Given the description of an element on the screen output the (x, y) to click on. 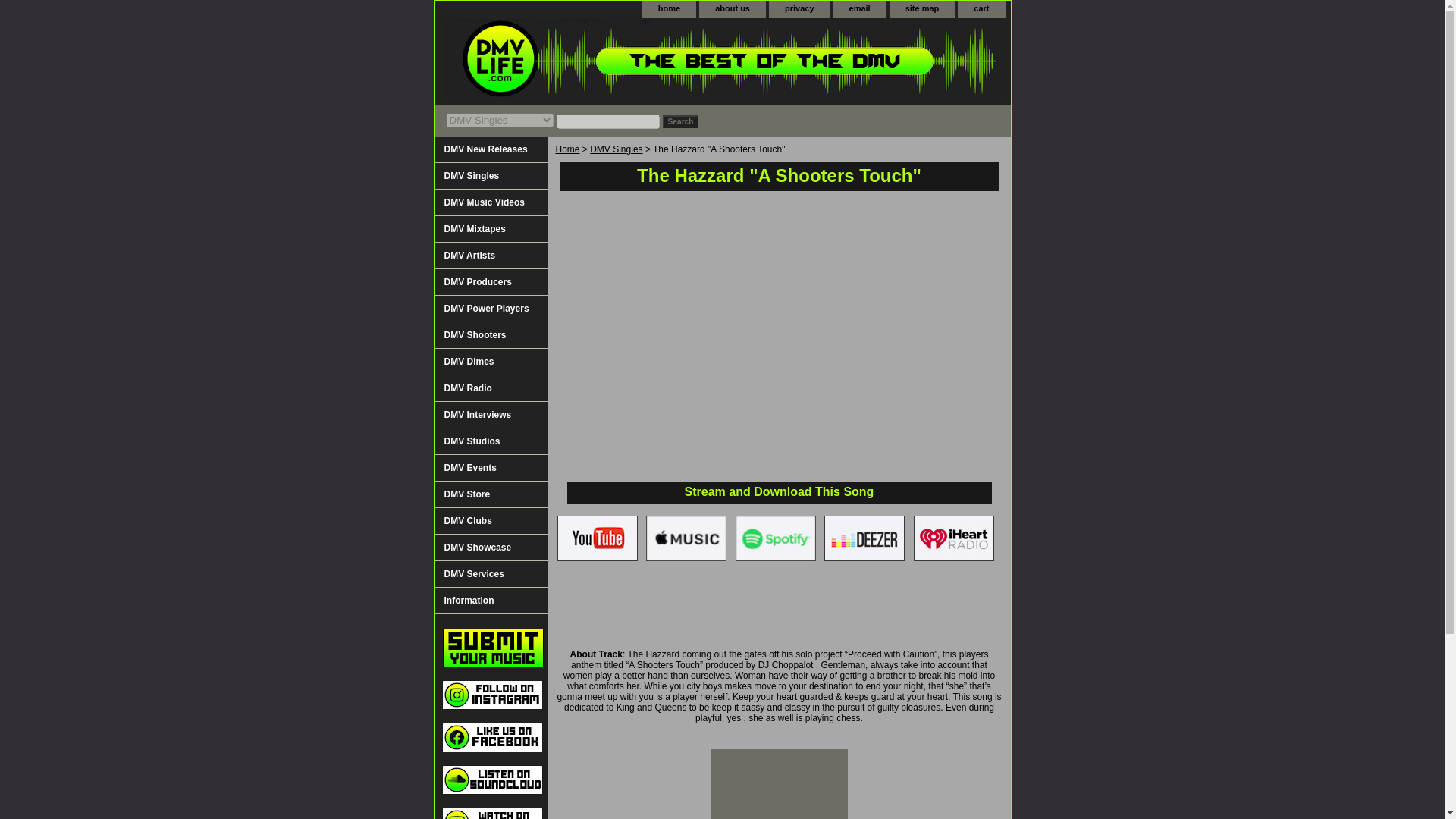
YouTube video player (782, 340)
DMV Showcase (490, 547)
email (859, 8)
DMV Singles (615, 149)
Search (680, 121)
DMV Singles (490, 175)
DMV Mixtapes (490, 229)
DMV Interviews (490, 415)
site map (922, 8)
DMV New Releases (490, 149)
